Given the description of an element on the screen output the (x, y) to click on. 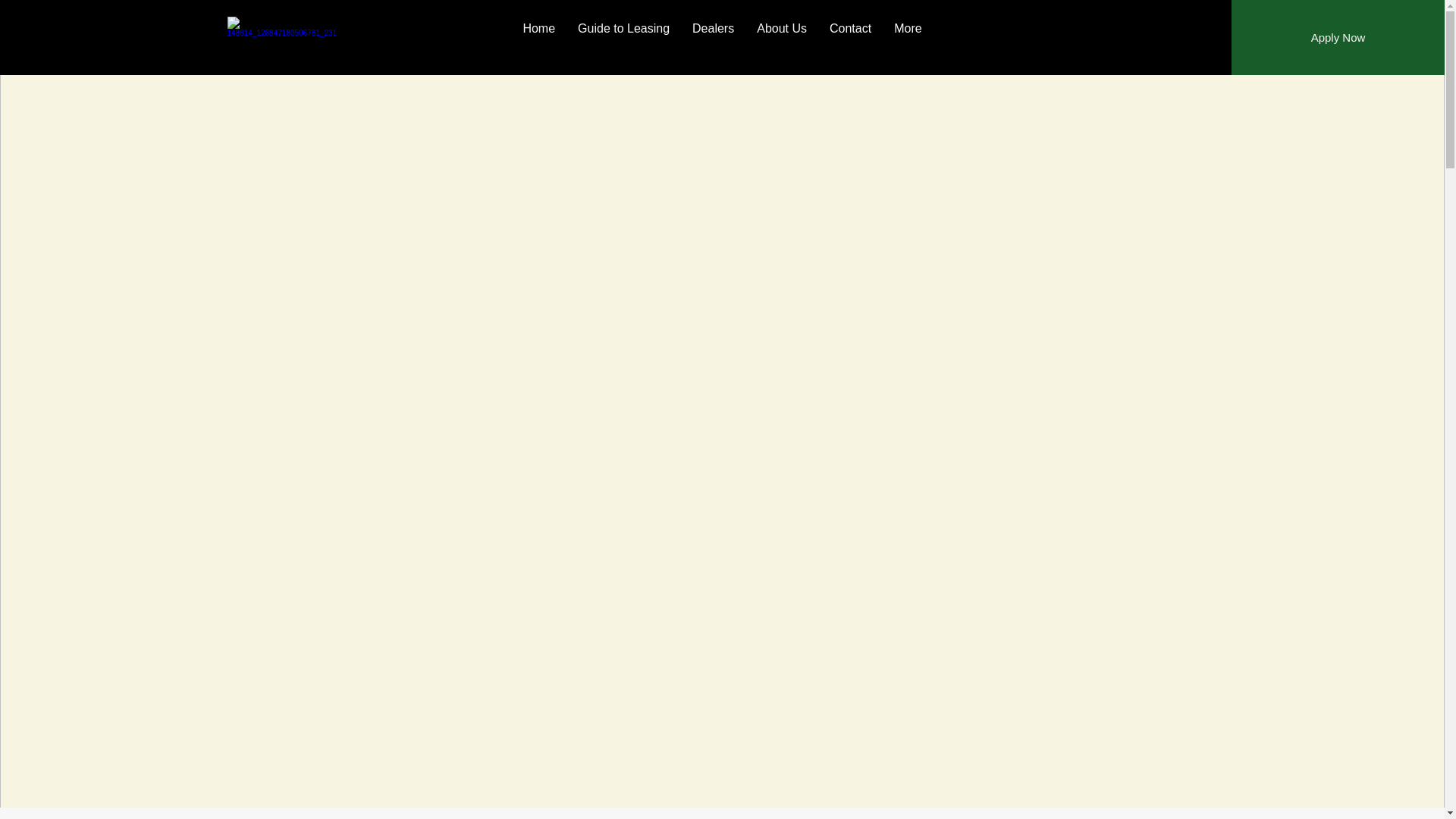
Contact (850, 39)
Home (538, 39)
Guide to Leasing (623, 39)
About Us (781, 39)
Dealers (713, 39)
